Given the description of an element on the screen output the (x, y) to click on. 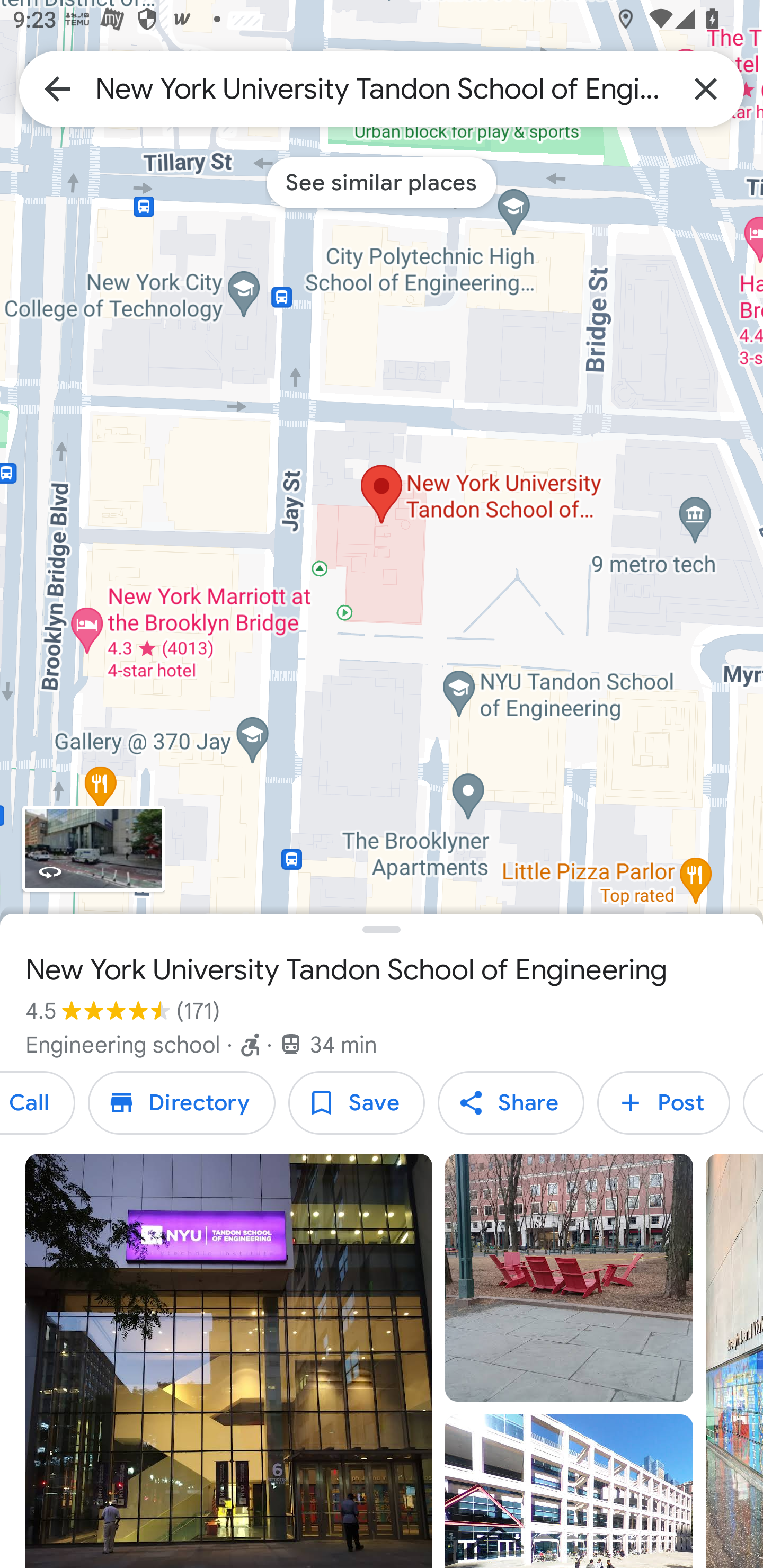
Back (57, 88)
Clear (705, 88)
See similar places (381, 182)
Directory Directory Directory (181, 1102)
Post Post Post (663, 1102)
Photo (228, 1361)
Photo (568, 1277)
Photo (568, 1491)
